Given the description of an element on the screen output the (x, y) to click on. 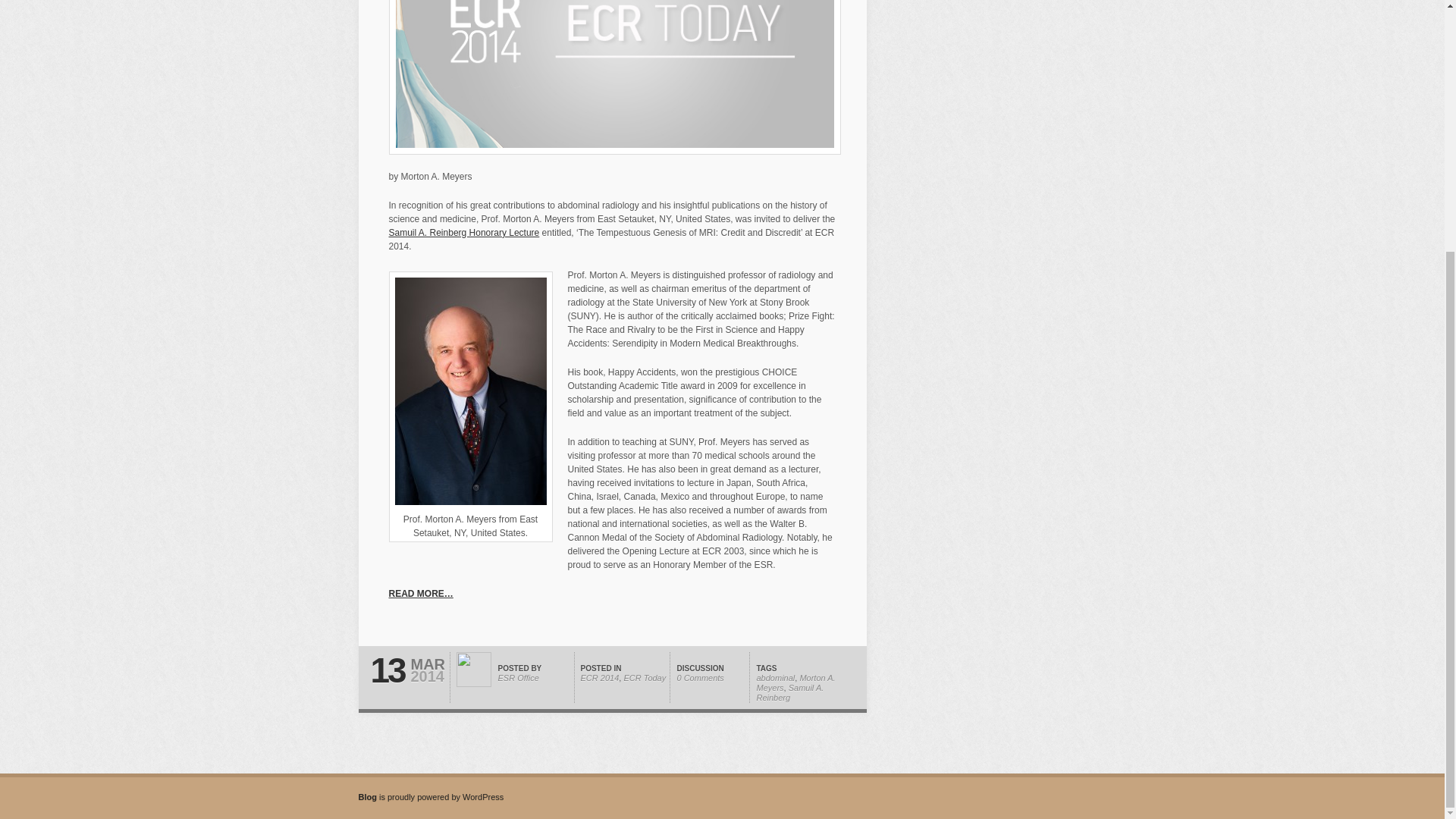
0 Comments (700, 677)
ESR Office (517, 677)
Watch via ECR On Demand (463, 232)
Samuil A. Reinberg Honorary Lecture (463, 232)
Blog (368, 796)
Samuil A. Reinberg (790, 692)
Morton A. Meyers (796, 682)
ECR Today (644, 677)
Blog (368, 796)
Posts by ESR Office (517, 677)
abdominal (775, 677)
ECR 2014 (600, 677)
